Given the description of an element on the screen output the (x, y) to click on. 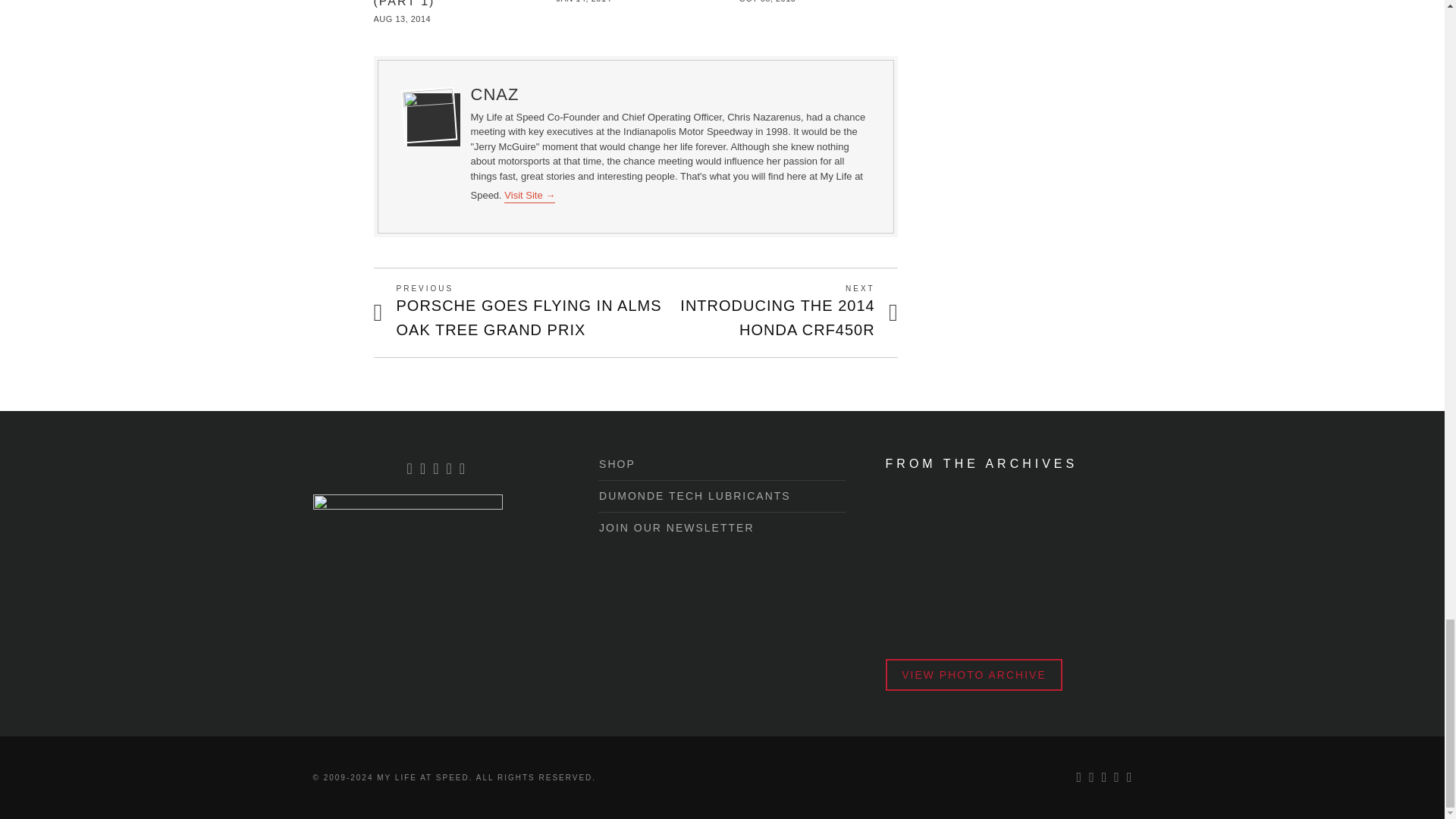
Oct 08, 2013 (767, 1)
Jan 14, 2014 (583, 1)
Aug 13, 2014 (401, 18)
